Given the description of an element on the screen output the (x, y) to click on. 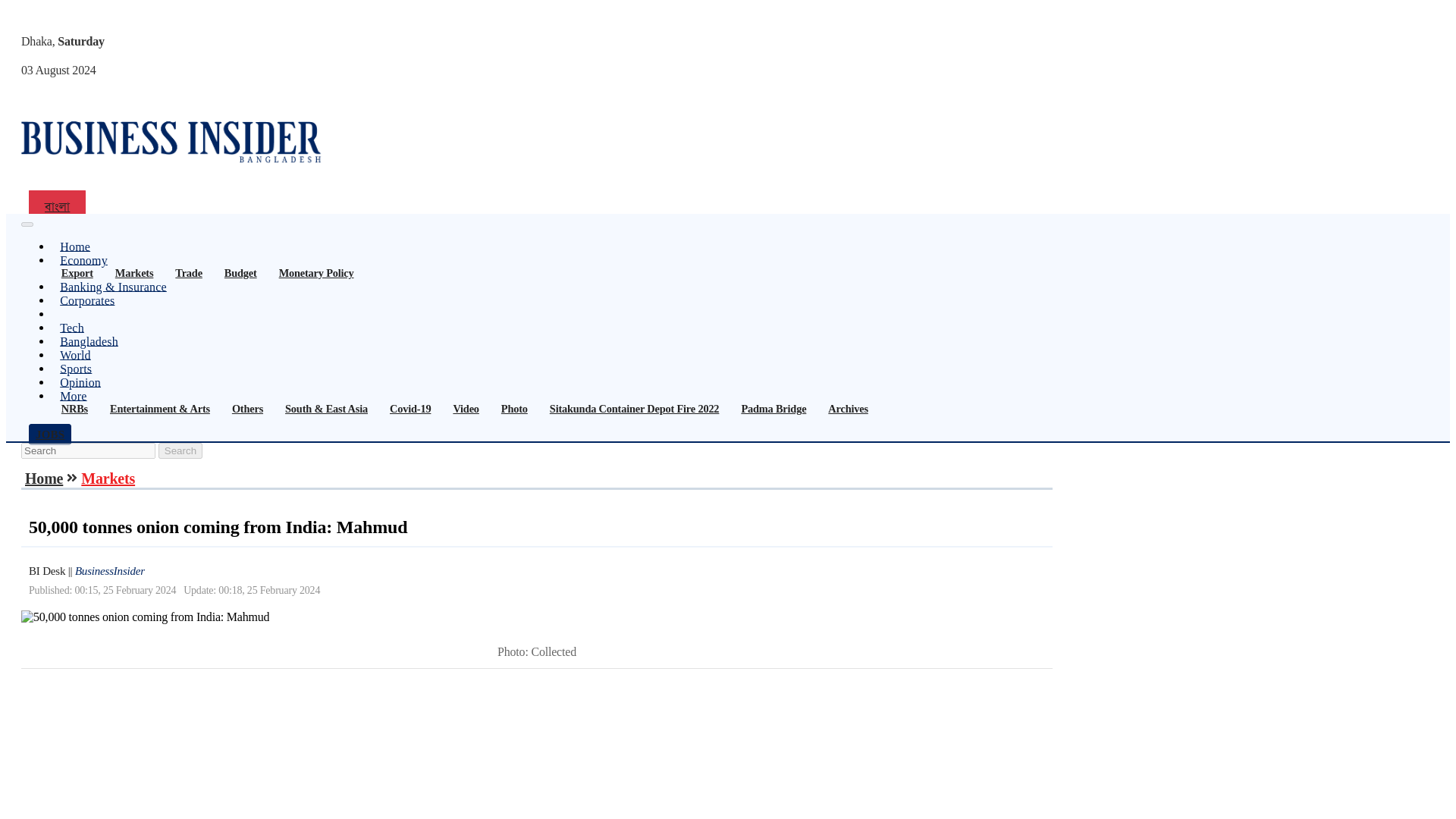
Opinion (79, 382)
World (74, 355)
Sports (75, 368)
Tech (71, 327)
Monetary Policy (316, 273)
Budget (240, 273)
50,000 tonnes onion coming from India: Mahmud (145, 617)
Export (76, 273)
JOBS (50, 434)
NRBs (73, 409)
Bangladesh (88, 341)
Home (74, 246)
Business Insider Bangladesh (172, 142)
Economy (83, 260)
Archives (847, 409)
